Given the description of an element on the screen output the (x, y) to click on. 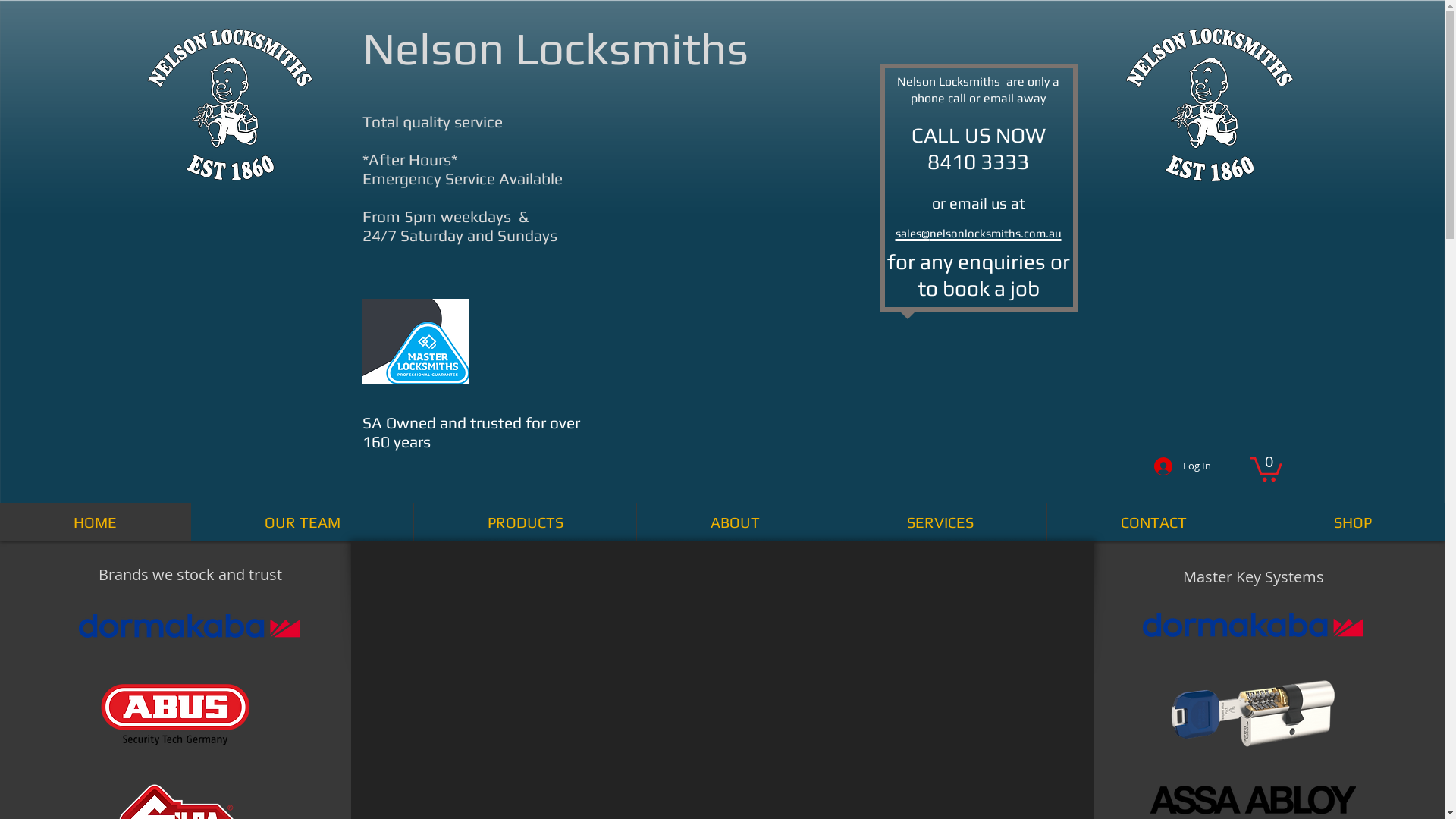
0 Element type: text (1265, 467)
PRODUCTS Element type: text (524, 521)
SERVICES Element type: text (939, 521)
CONTACT Element type: text (1152, 521)
HOME Element type: text (95, 521)
ABOUT Element type: text (734, 521)
OUR TEAM Element type: text (301, 521)
sales@nelsonlocksmiths.com.au Element type: text (977, 227)
SHOP Element type: text (1351, 521)
Log In Element type: text (1182, 466)
